Given the description of an element on the screen output the (x, y) to click on. 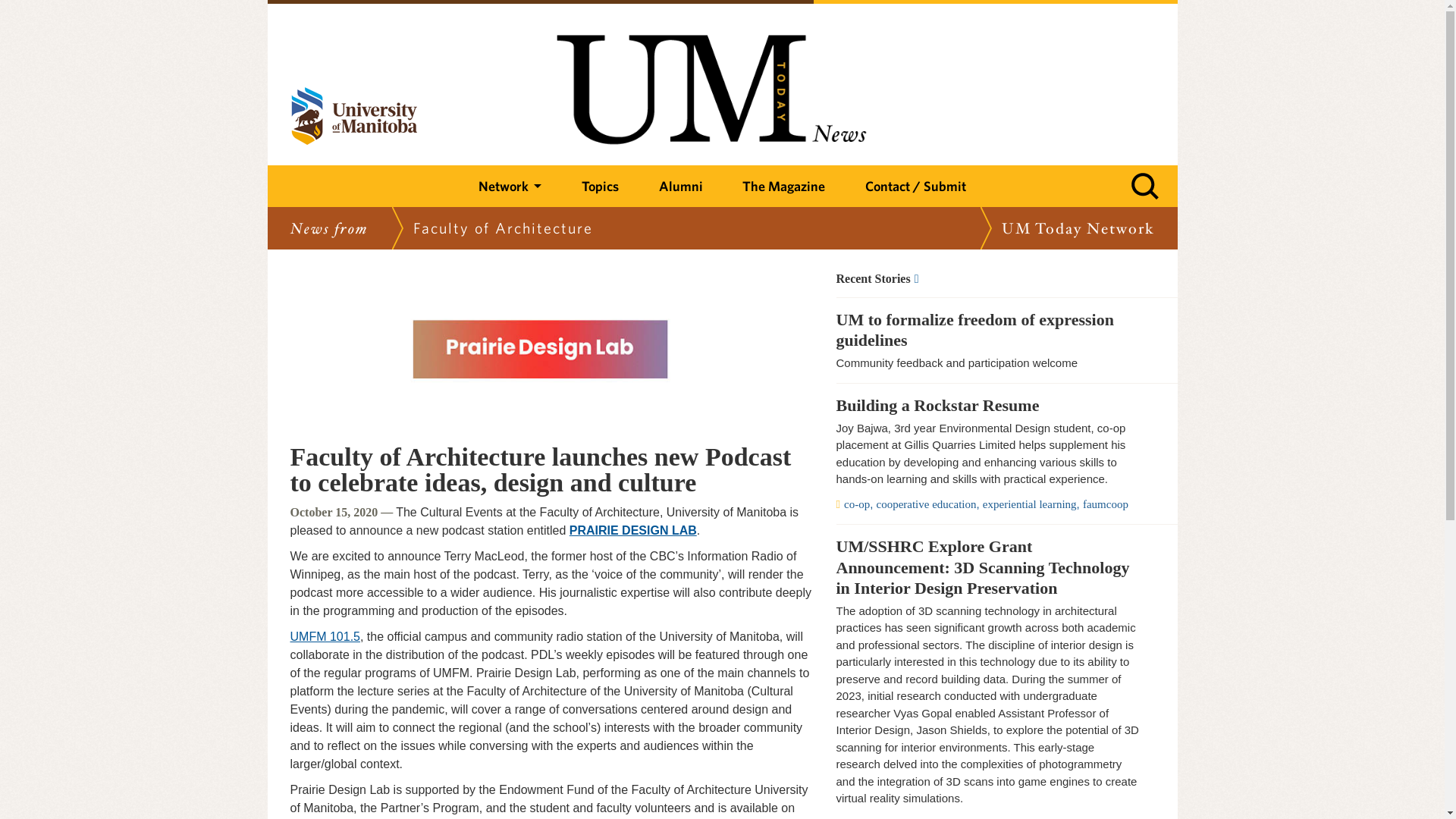
News Archives (986, 278)
UM to formalize freedom of expression guidelines (986, 330)
Building a Rockstar Resume (986, 405)
Network (510, 186)
